Given the description of an element on the screen output the (x, y) to click on. 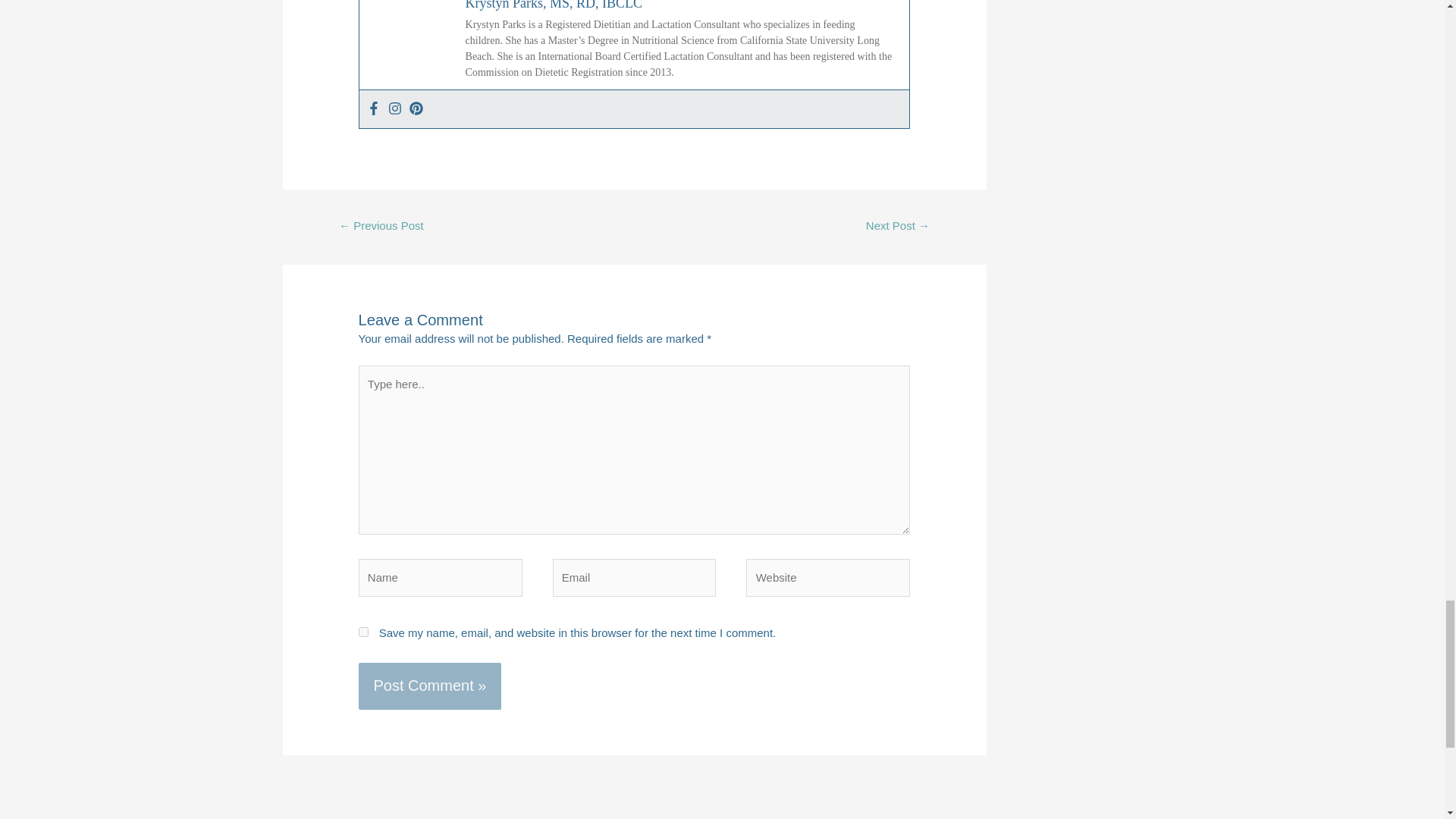
yes (363, 632)
Pinterest (416, 109)
Plant Based Infant Formula (897, 226)
Hiding Veggies in Food (381, 226)
Facebook (373, 109)
Instagram (394, 109)
